Given the description of an element on the screen output the (x, y) to click on. 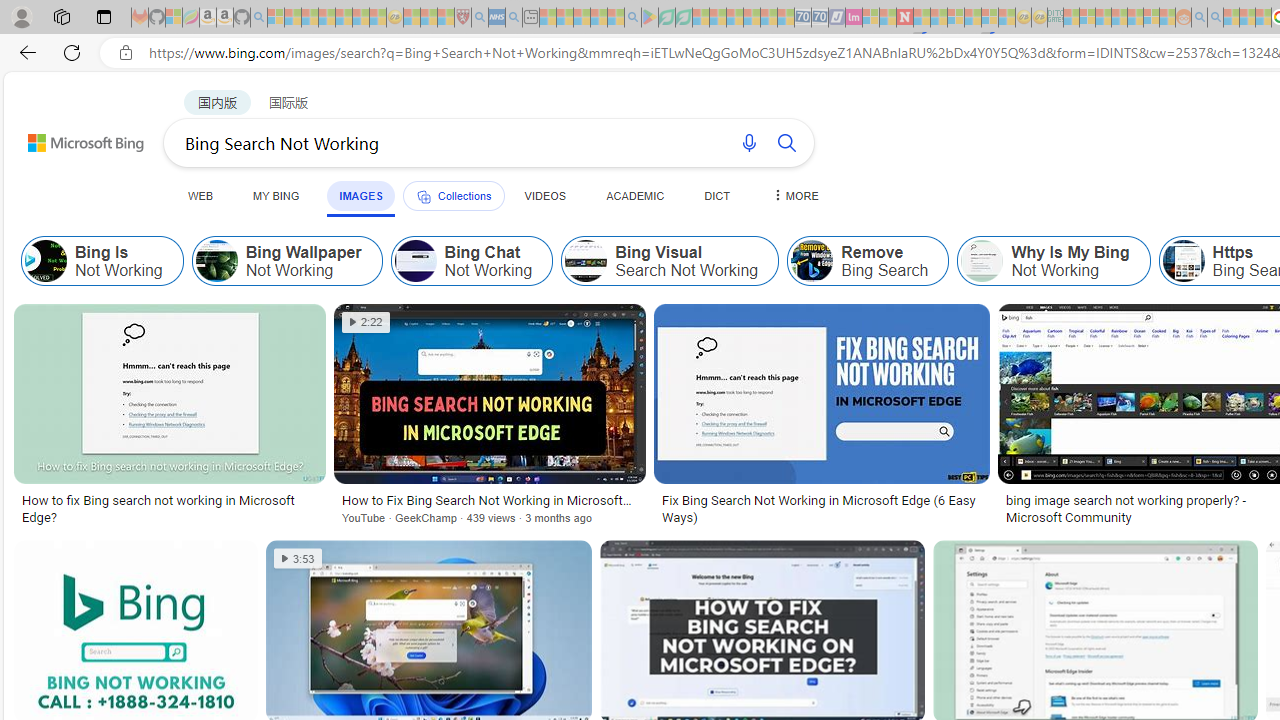
Image result for Bing Search Not Working (821, 393)
ACADEMIC (635, 195)
Bing Visual Search Not Working (586, 260)
Fix Bing Search Not Working in Microsoft Edge (6 Easy Ways) (821, 508)
How to fix Bing search not working in Microsoft Edge? (169, 508)
Bing Chat Not Working (471, 260)
Fix Bing Search Not Working in Microsoft Edge (6 Easy Ways) (821, 508)
